Given the description of an element on the screen output the (x, y) to click on. 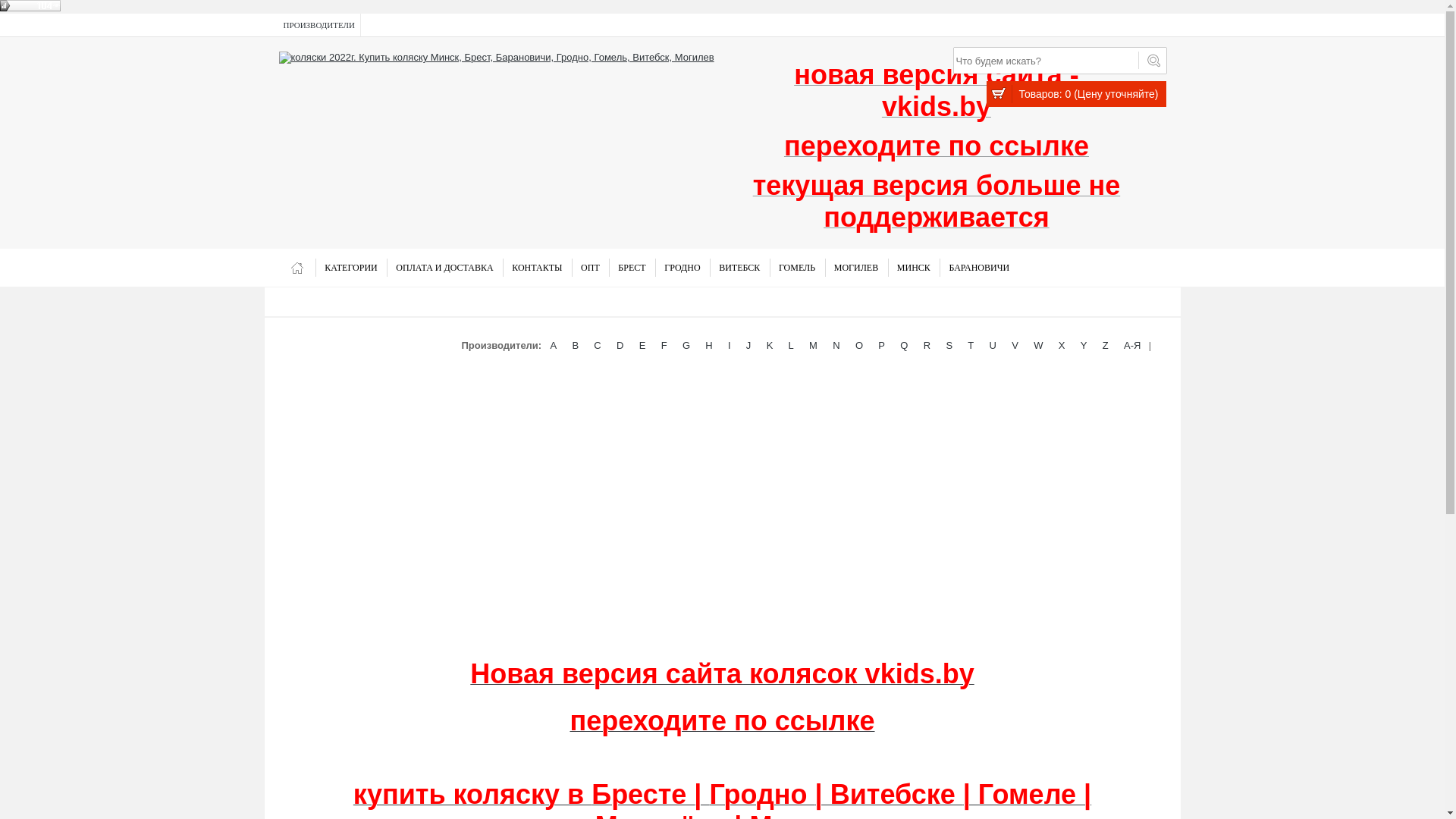
X Element type: text (1061, 345)
O Element type: text (858, 345)
M Element type: text (813, 345)
K Element type: text (769, 345)
C Element type: text (597, 345)
I Element type: text (729, 345)
J Element type: text (748, 345)
B Element type: text (574, 345)
L Element type: text (790, 345)
Y Element type: text (1083, 345)
Z Element type: text (1105, 345)
U Element type: text (992, 345)
G Element type: text (685, 345)
F Element type: text (664, 345)
W Element type: text (1038, 345)
P Element type: text (881, 345)
N Element type: text (836, 345)
A Element type: text (553, 345)
R Element type: text (927, 345)
S Element type: text (948, 345)
Q Element type: text (903, 345)
T Element type: text (970, 345)
V Element type: text (1014, 345)
D Element type: text (619, 345)
E Element type: text (642, 345)
H Element type: text (708, 345)
